Given the description of an element on the screen output the (x, y) to click on. 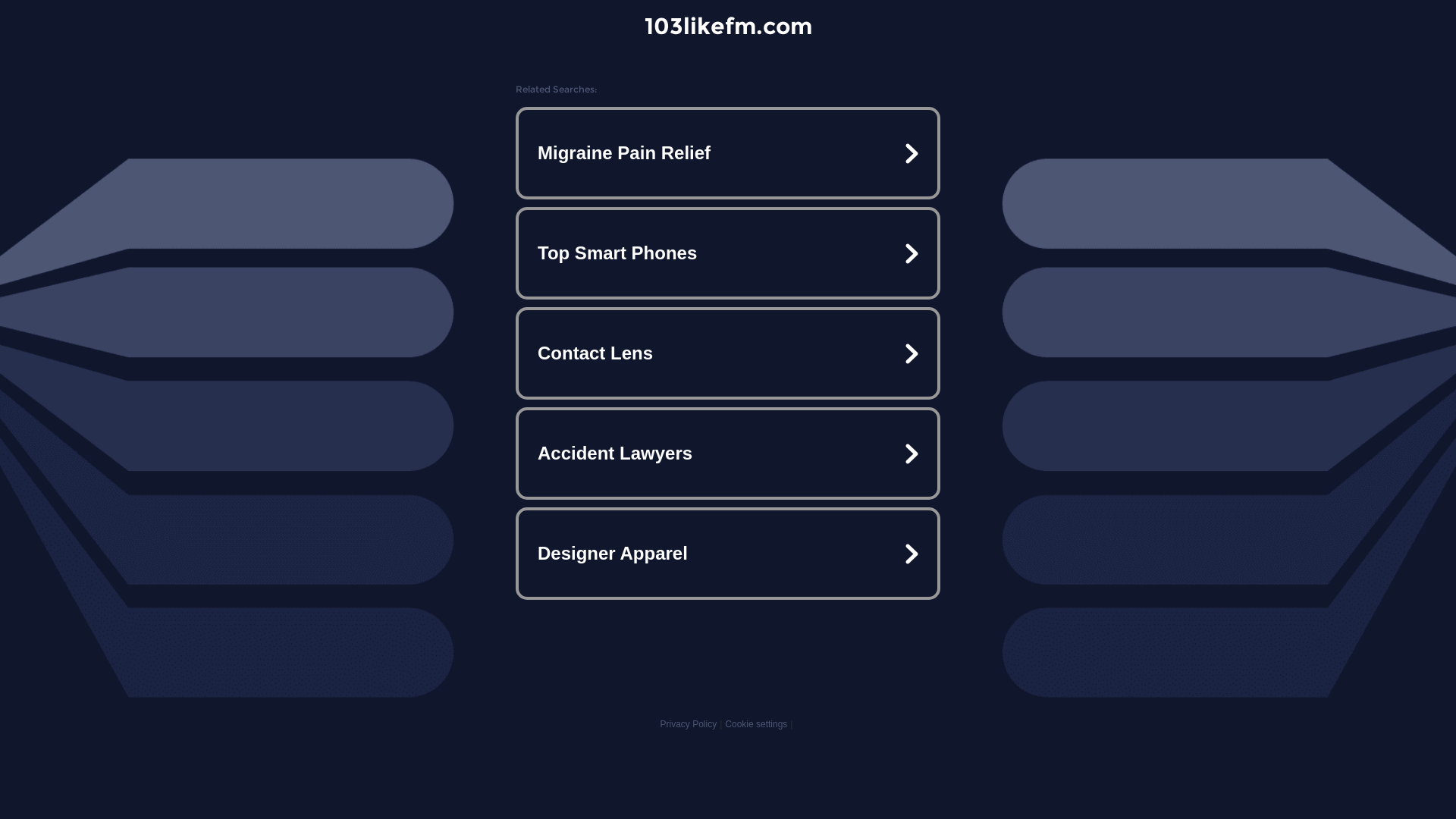
Accident Lawyers Element type: text (727, 453)
Top Smart Phones Element type: text (727, 253)
Cookie settings Element type: text (755, 723)
Privacy Policy Element type: text (687, 723)
Migraine Pain Relief Element type: text (727, 152)
103likefm.com Element type: text (728, 26)
Designer Apparel Element type: text (727, 553)
Contact Lens Element type: text (727, 353)
